Given the description of an element on the screen output the (x, y) to click on. 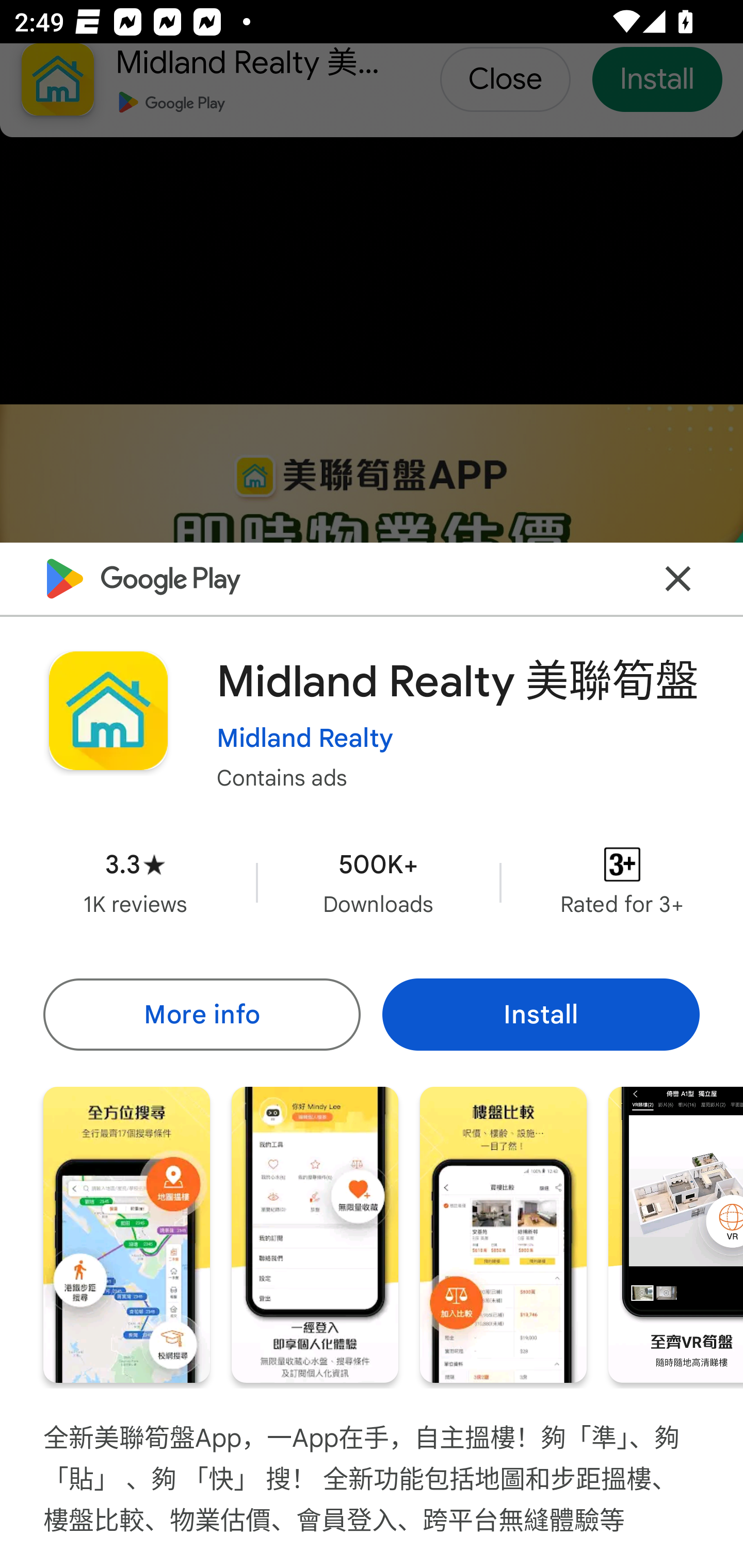
Close (677, 578)
Image of app or game icon for Midland Realty 美聯筍盤 (108, 711)
Midland Realty (304, 737)
More info (201, 1014)
Install (540, 1014)
Screenshot "1" of "7" (126, 1234)
Screenshot "2" of "7" (314, 1234)
Screenshot "3" of "7" (502, 1234)
Screenshot "4" of "7" (675, 1234)
